Given the description of an element on the screen output the (x, y) to click on. 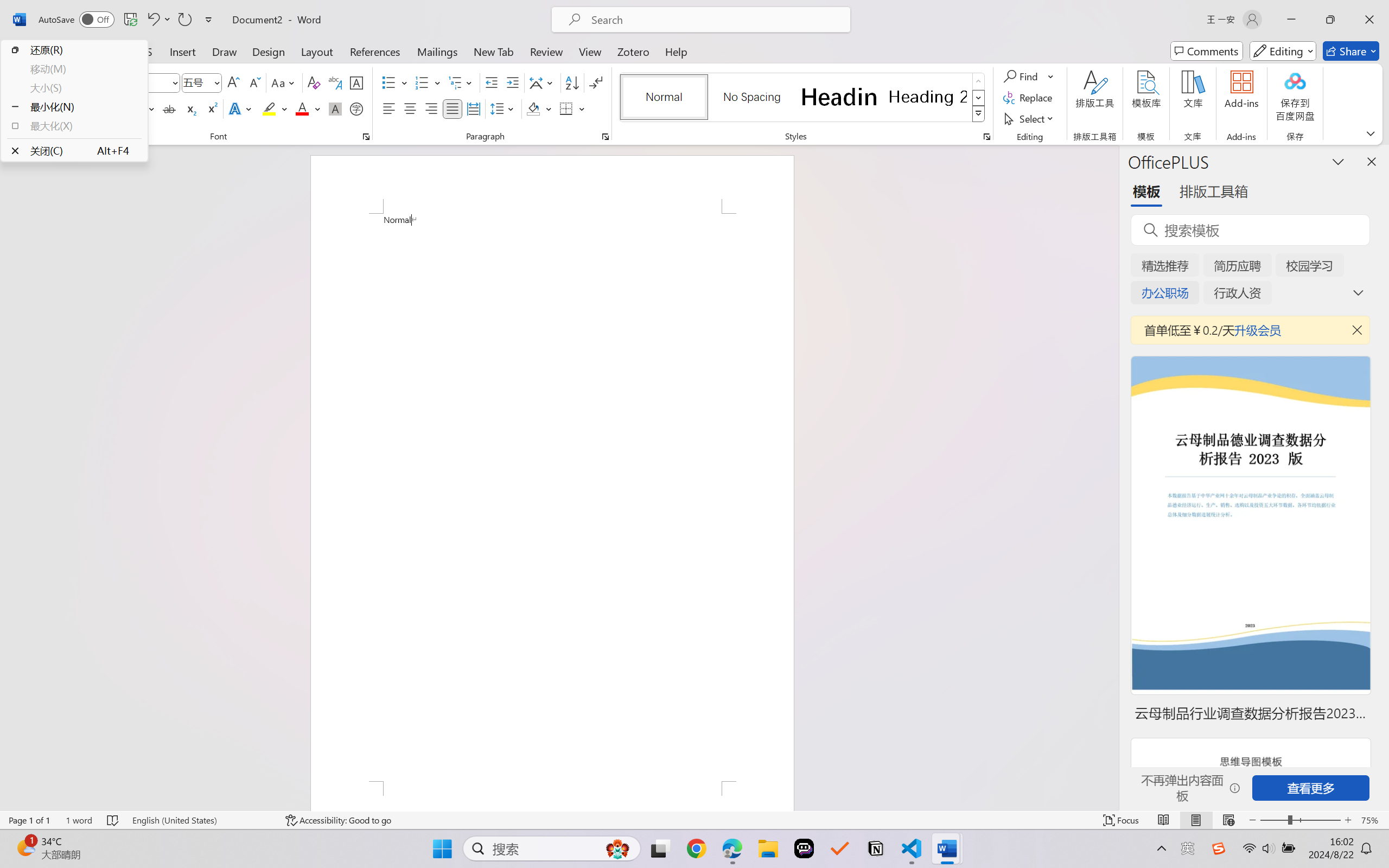
Home (69, 51)
Task Pane Options (1338, 161)
Borders (566, 108)
Font Size (196, 82)
Shading RGB(0, 0, 0) (533, 108)
Save (130, 19)
Shading (539, 108)
Cut (60, 75)
Row Down (978, 97)
Text Highlight Color (274, 108)
Ribbon Display Options (1370, 132)
Decrease Indent (491, 82)
